Given the description of an element on the screen output the (x, y) to click on. 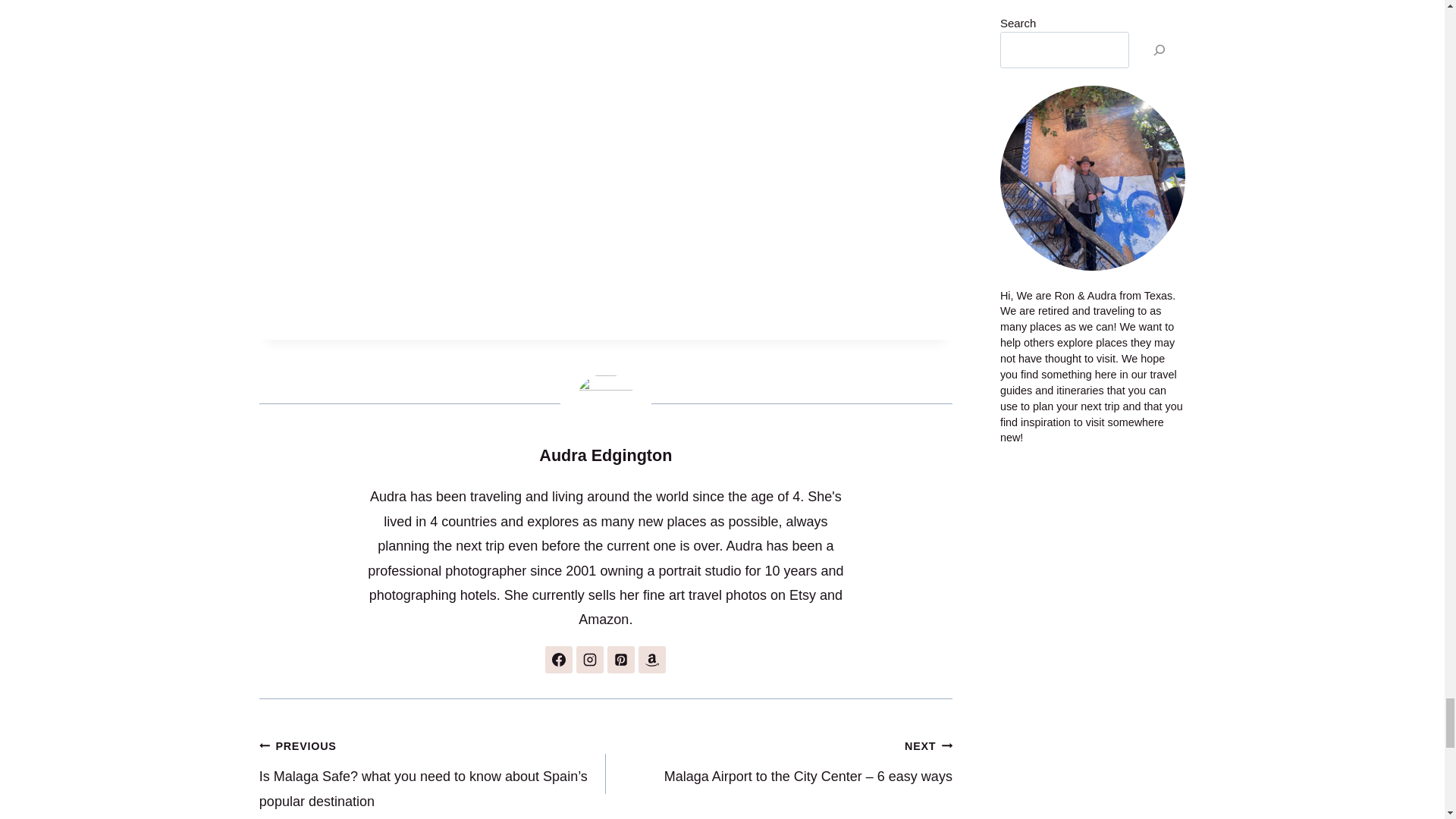
Follow Audra Edgington on Pinterest (620, 659)
Posts by Audra Edgington (604, 455)
Follow Audra Edgington on Facebook (558, 659)
Follow Audra Edgington on Amazon (652, 659)
Follow Audra Edgington on Instagram (590, 659)
